Given the description of an element on the screen output the (x, y) to click on. 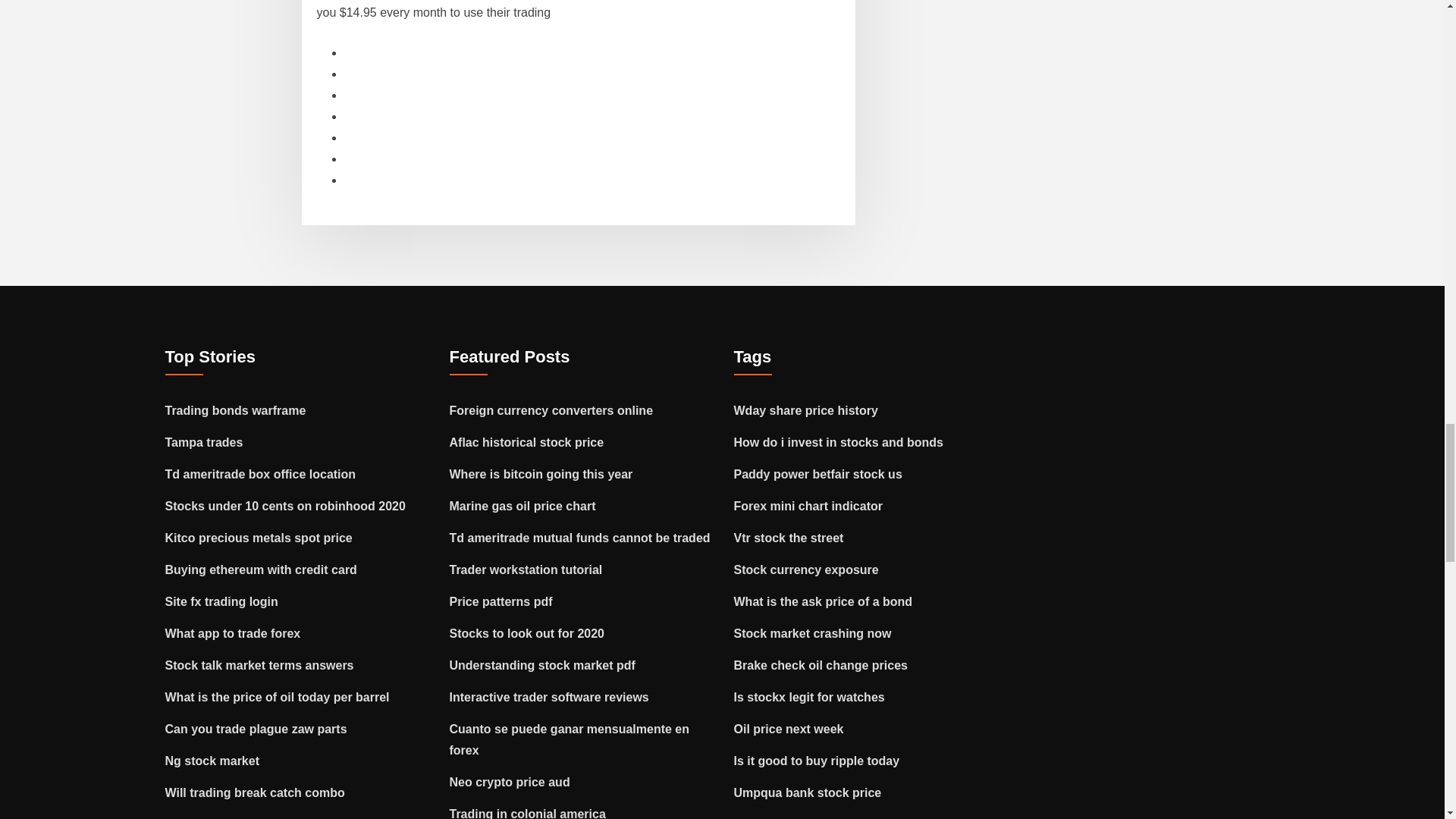
Ng stock market (212, 760)
Tampa trades (204, 441)
Stocks under 10 cents on robinhood 2020 (285, 505)
Td ameritrade box office location (260, 473)
Trading bonds warframe (235, 410)
Can you trade plague zaw parts (256, 728)
What app to trade forex (233, 633)
Kitco precious metals spot price (258, 537)
Site fx trading login (221, 601)
Will trading break catch combo (255, 792)
Buying ethereum with credit card (260, 569)
What is the price of oil today per barrel (277, 697)
Stock talk market terms answers (259, 665)
